Given the description of an element on the screen output the (x, y) to click on. 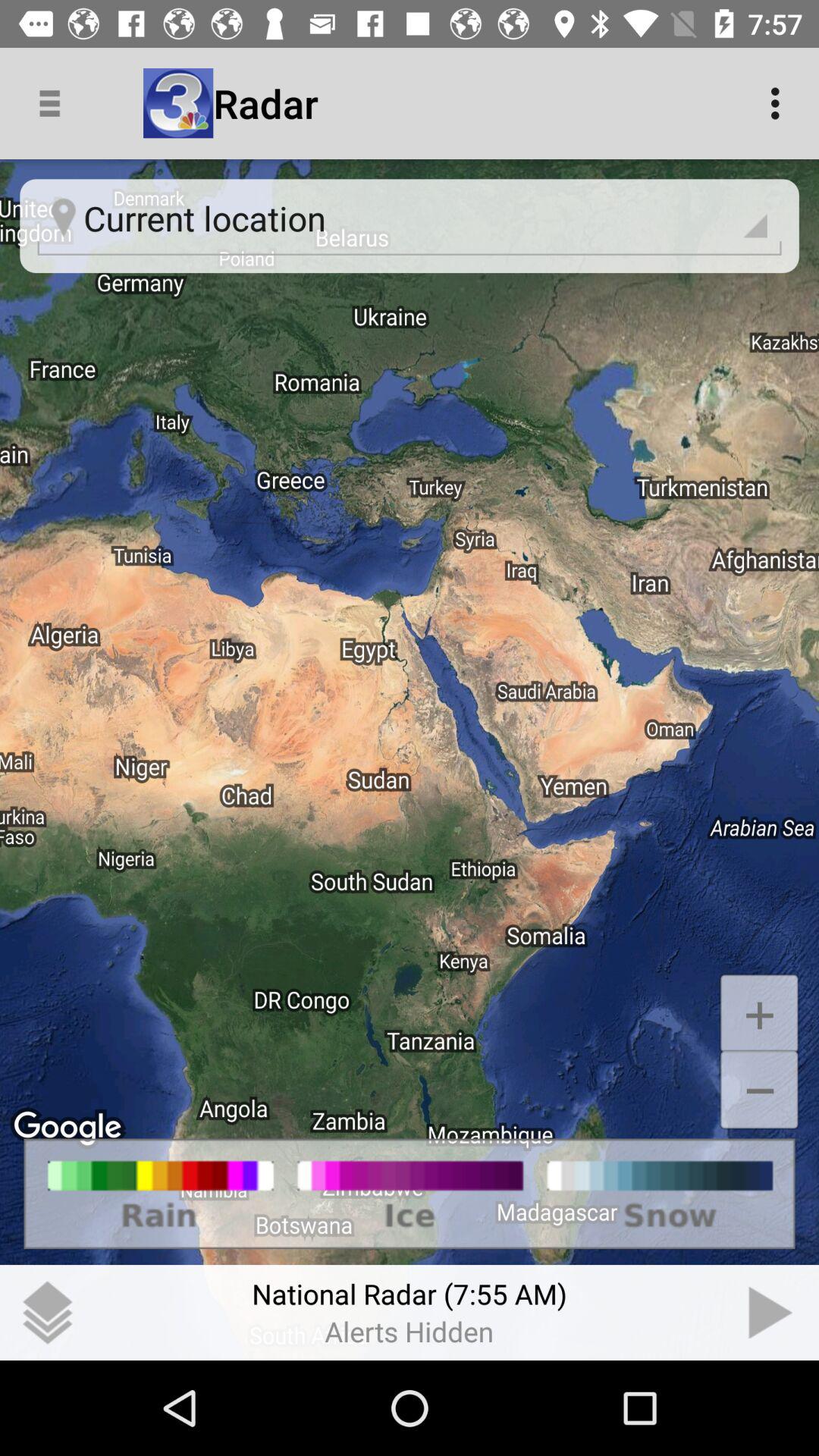
turn off the icon next to the radar item (779, 103)
